Given the description of an element on the screen output the (x, y) to click on. 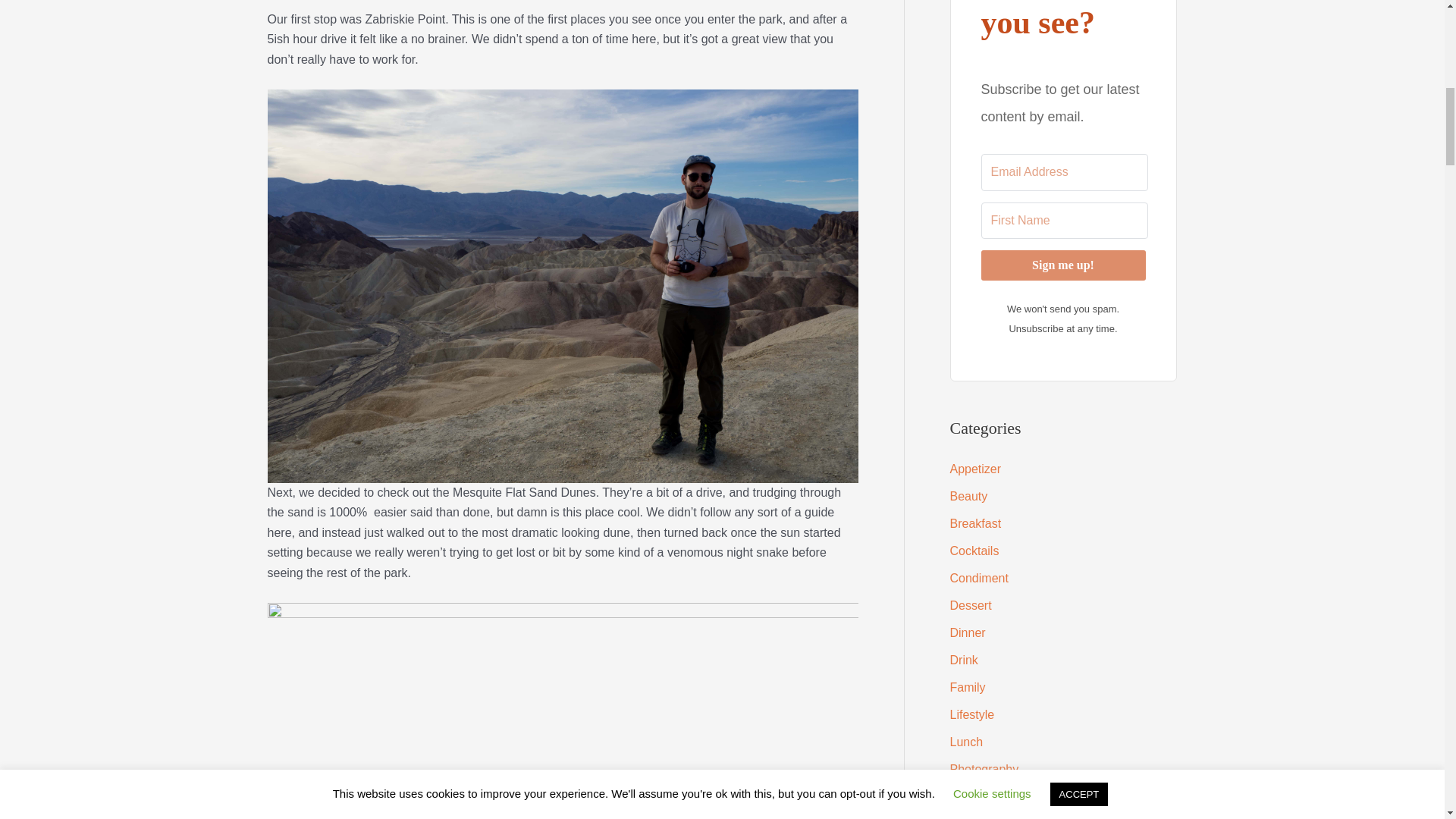
Breakfast (975, 522)
Appetizer (975, 468)
Beauty (968, 495)
Sign me up! (1063, 265)
Condiment (978, 577)
Dessert (970, 604)
Cocktails (973, 550)
